Given the description of an element on the screen output the (x, y) to click on. 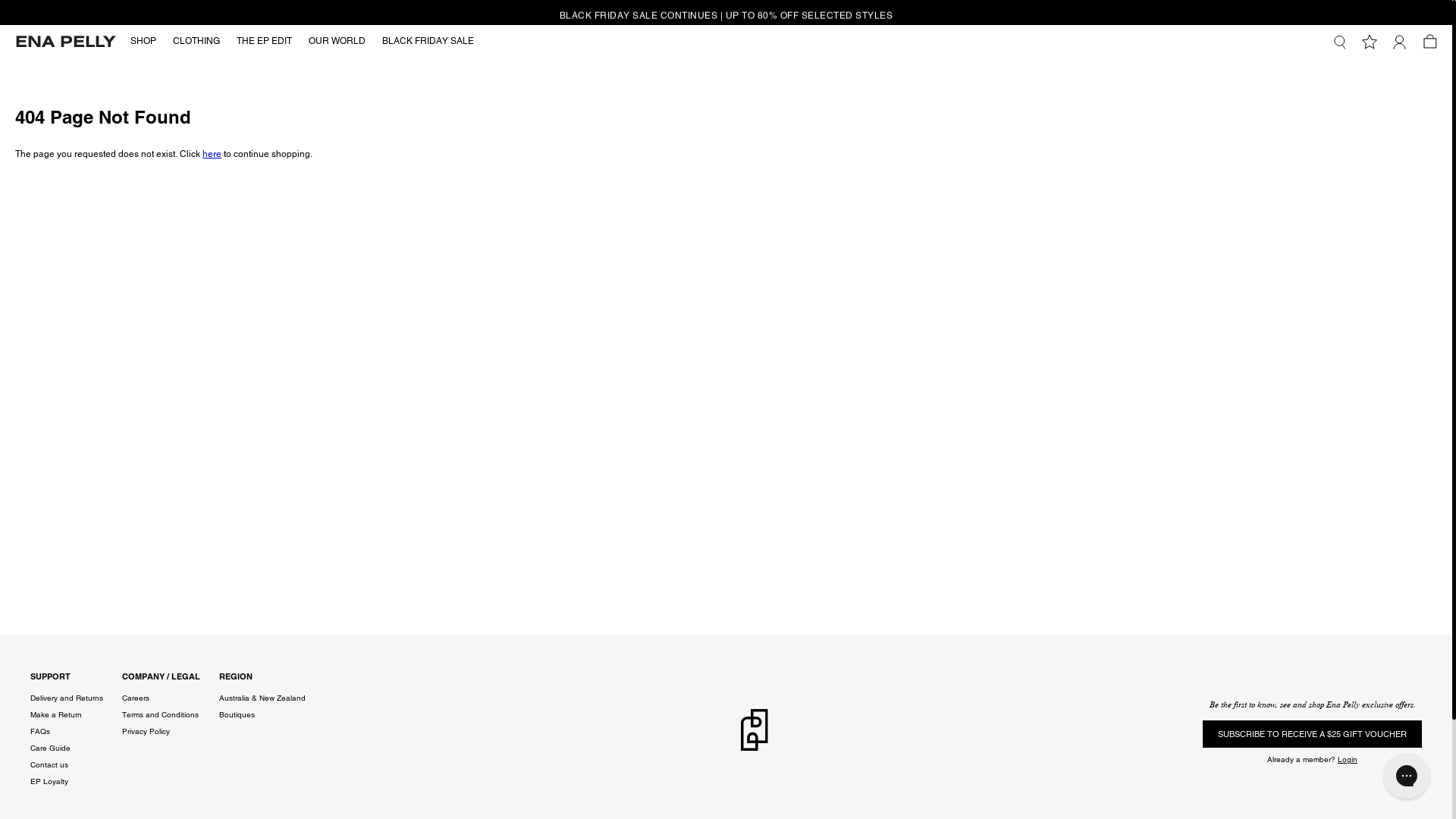
SUBSCRIBE TO RECEIVE A $25 GIFT VOUCHER Element type: text (1311, 734)
FAQs Element type: text (40, 731)
EP Loyalty Element type: text (49, 781)
Australia & New Zealand Element type: text (262, 698)
Delivery and Returns Element type: text (66, 698)
CLOTHING Element type: text (195, 41)
Login Element type: text (1347, 759)
THE EP EDIT Element type: text (263, 41)
BLACK FRIDAY SALE CONTINUES | UP TO 80% OFF SELECTED STYLES Element type: text (726, 12)
Gorgias live chat messenger Element type: hover (1406, 775)
Privacy Policy Element type: text (145, 731)
Boutiques Element type: text (236, 714)
Care Guide Element type: text (50, 748)
Contact us Element type: text (49, 764)
ENA PELLY Element type: text (65, 40)
SHOP Element type: text (143, 41)
here Element type: text (211, 153)
Careers Element type: text (135, 698)
BLACK FRIDAY SALE Element type: text (427, 41)
Terms and Conditions Element type: text (160, 714)
OUR WORLD Element type: text (336, 41)
Make a Return Element type: text (55, 714)
